Given the description of an element on the screen output the (x, y) to click on. 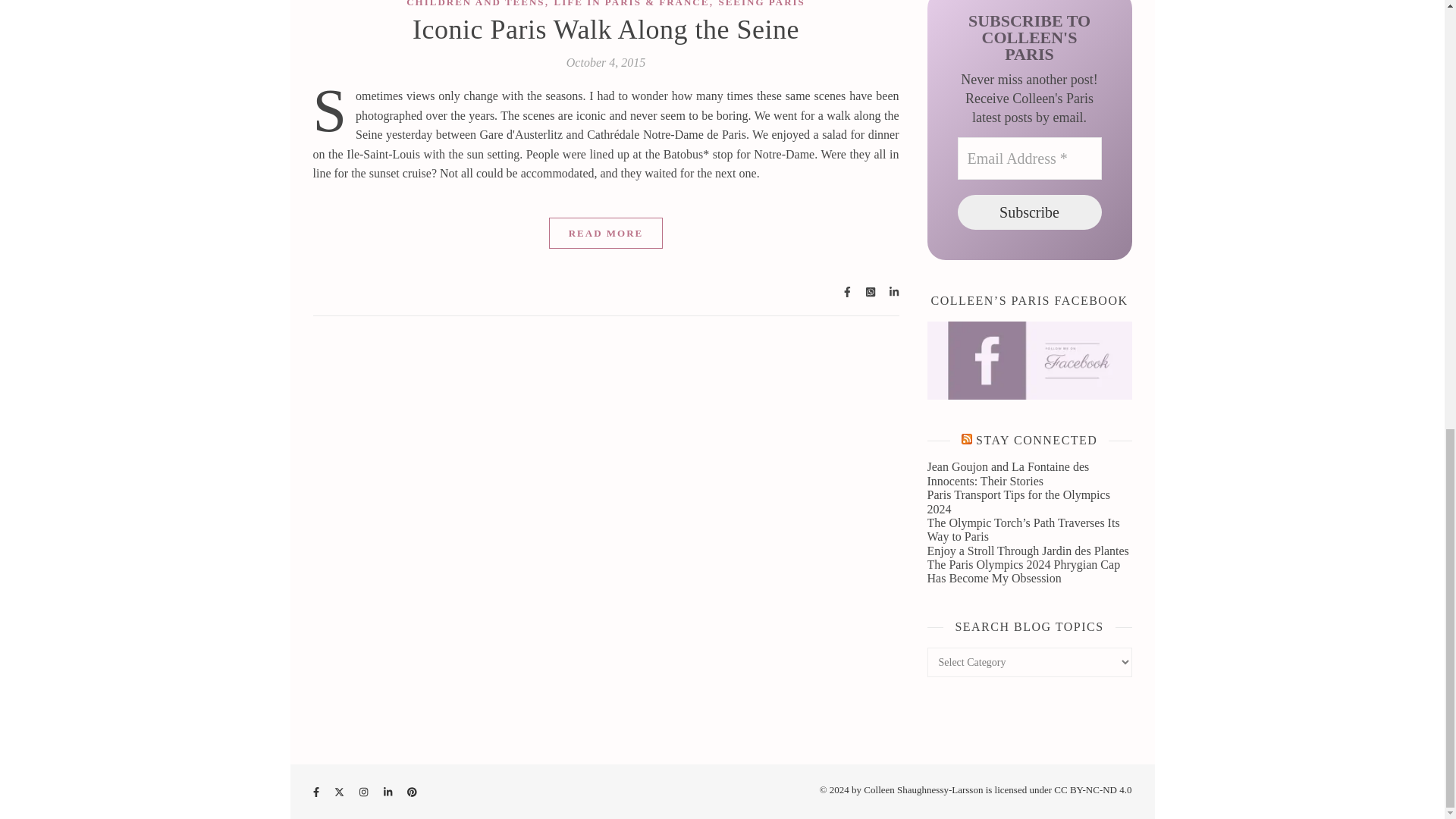
STAY CONNECTED (1036, 440)
READ MORE (605, 232)
Subscribe (1028, 212)
Subscribe (1028, 212)
Jean Goujon and La Fontaine des Innocents: Their Stories (1007, 473)
SEEING PARIS (761, 3)
CHILDREN AND TEENS (475, 3)
Colleen's Paris Facebook (1028, 360)
Paris Transport Tips for the Olympics 2024 (1017, 501)
Enjoy a Stroll Through Jardin des Plantes (1027, 550)
Email Address (1028, 158)
Iconic Paris Walk Along the Seine (605, 29)
The Paris Olympics 2024 Phrygian Cap Has Become My Obsession (1022, 570)
